Given the description of an element on the screen output the (x, y) to click on. 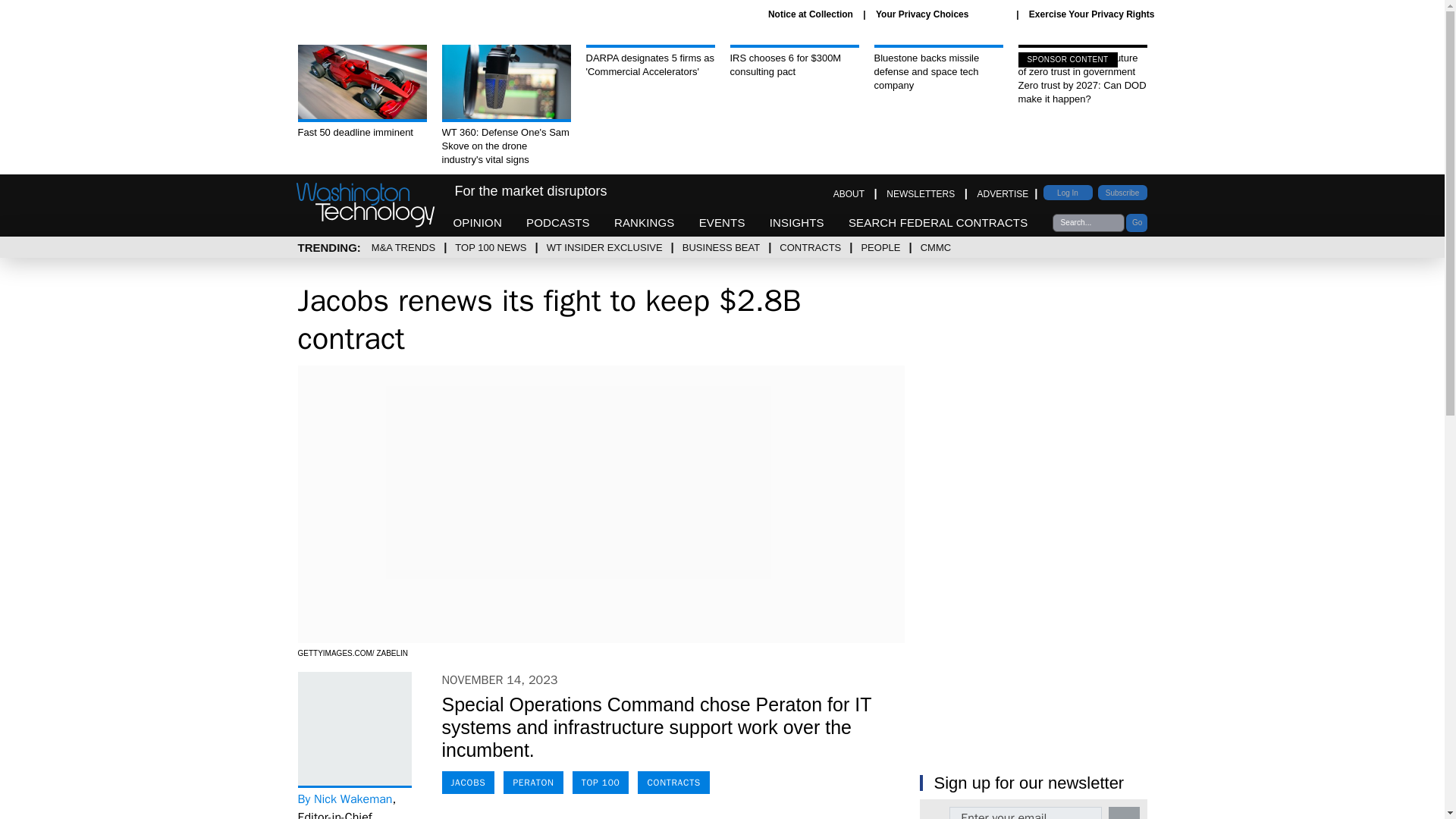
OPINION (477, 222)
Exercise Your Privacy Rights (1091, 14)
EVENTS (721, 222)
SEARCH FEDERAL CONTRACTS (937, 222)
Your Privacy Choices (941, 14)
INSIGHTS (797, 222)
NEWSLETTERS (920, 194)
RANKINGS (644, 222)
PODCASTS (557, 222)
